Given the description of an element on the screen output the (x, y) to click on. 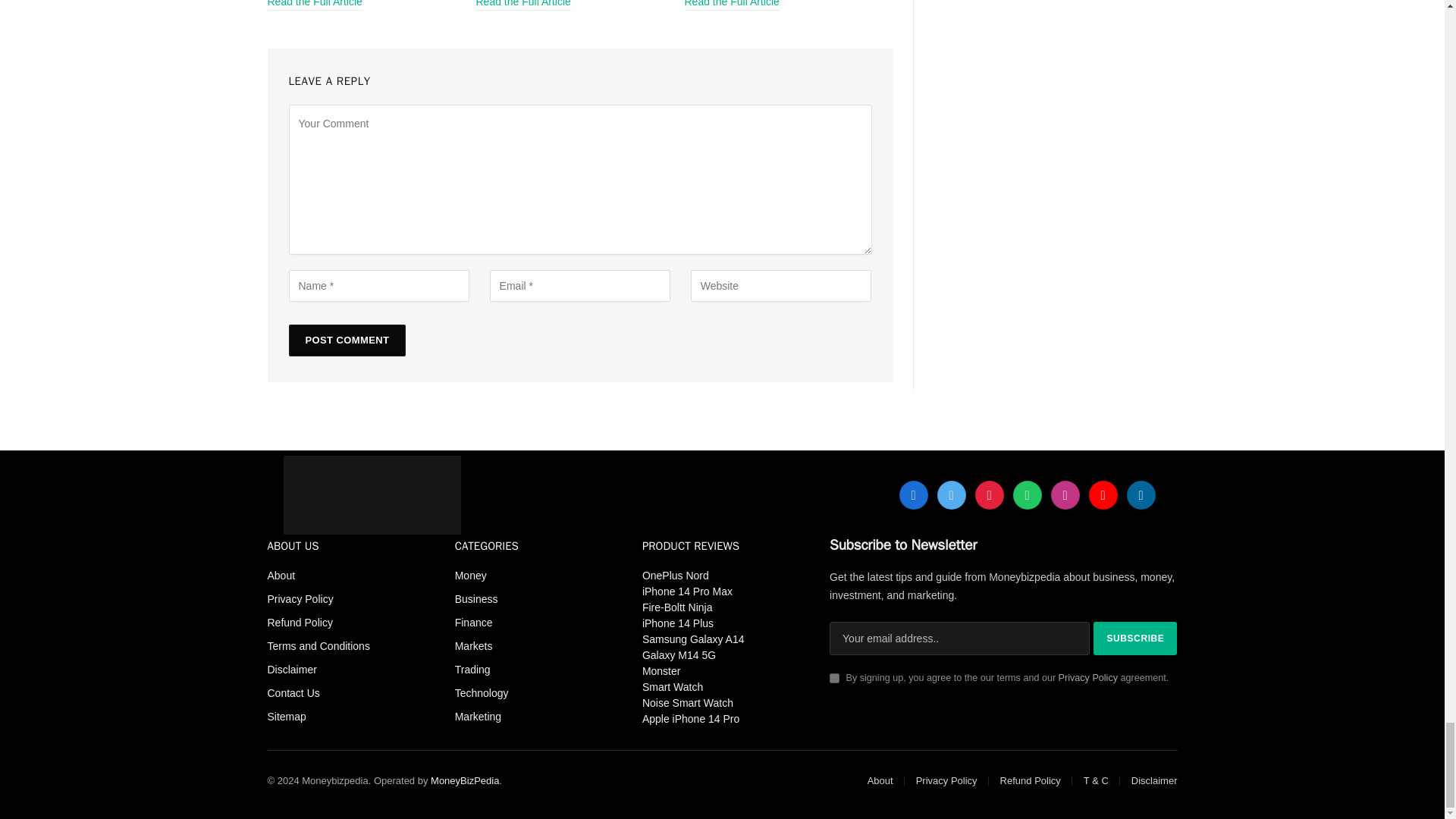
on (834, 678)
Post Comment (347, 340)
Subscribe (1134, 638)
